Given the description of an element on the screen output the (x, y) to click on. 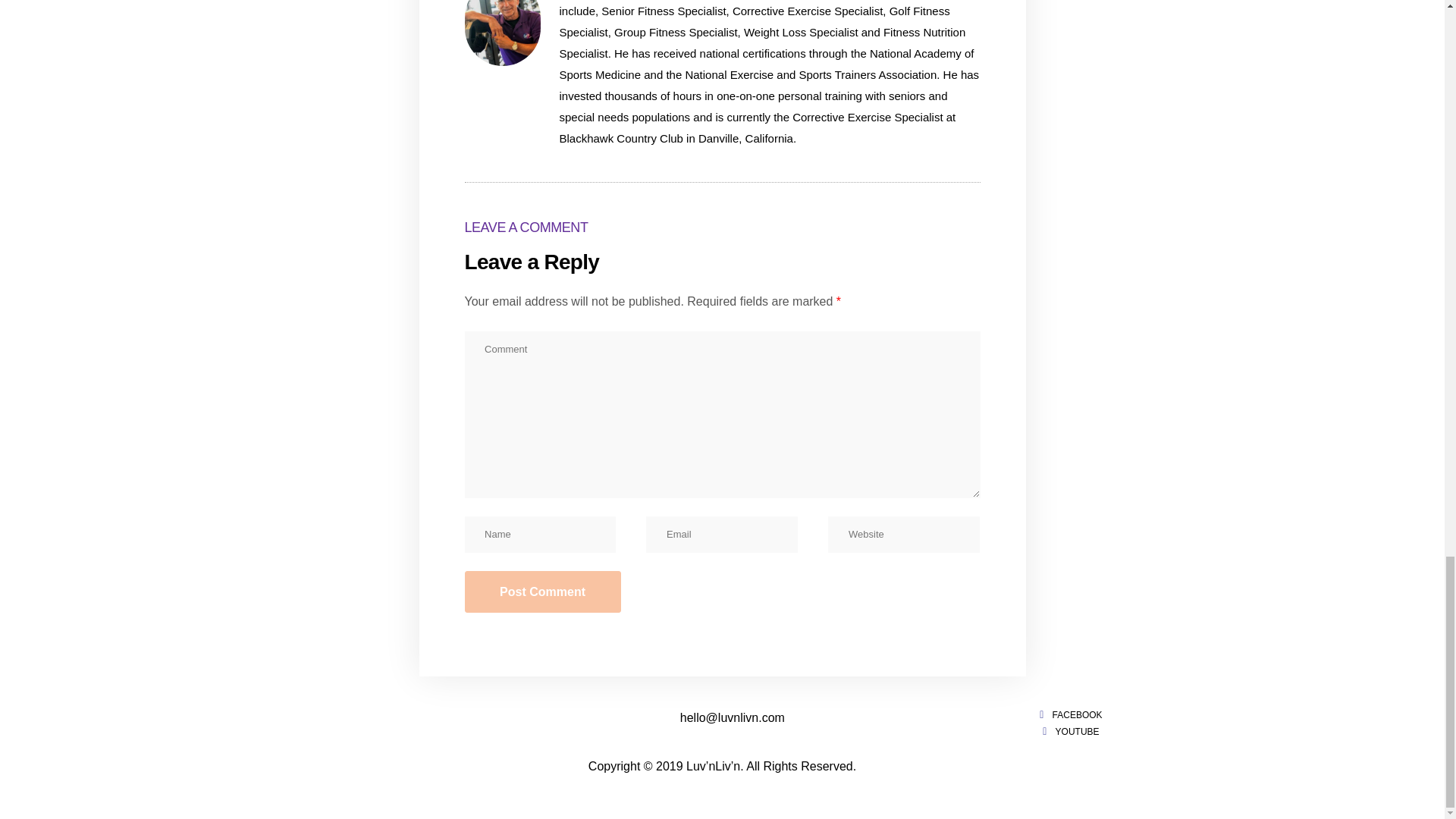
Post Comment (542, 590)
YOUTUBE (1068, 732)
Post Comment (542, 590)
FACEBOOK (1068, 714)
